Given the description of an element on the screen output the (x, y) to click on. 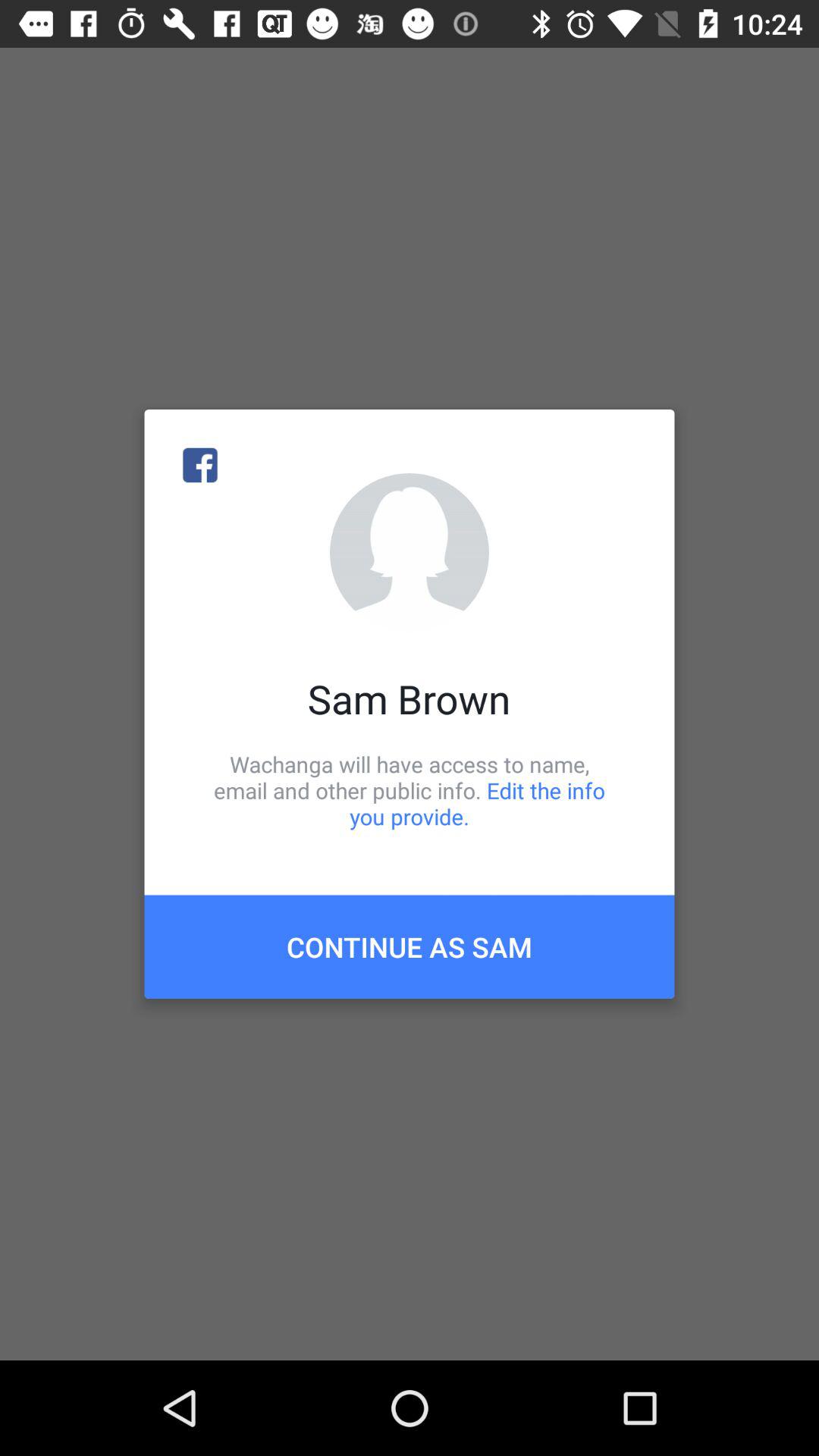
open the wachanga will have icon (409, 790)
